Given the description of an element on the screen output the (x, y) to click on. 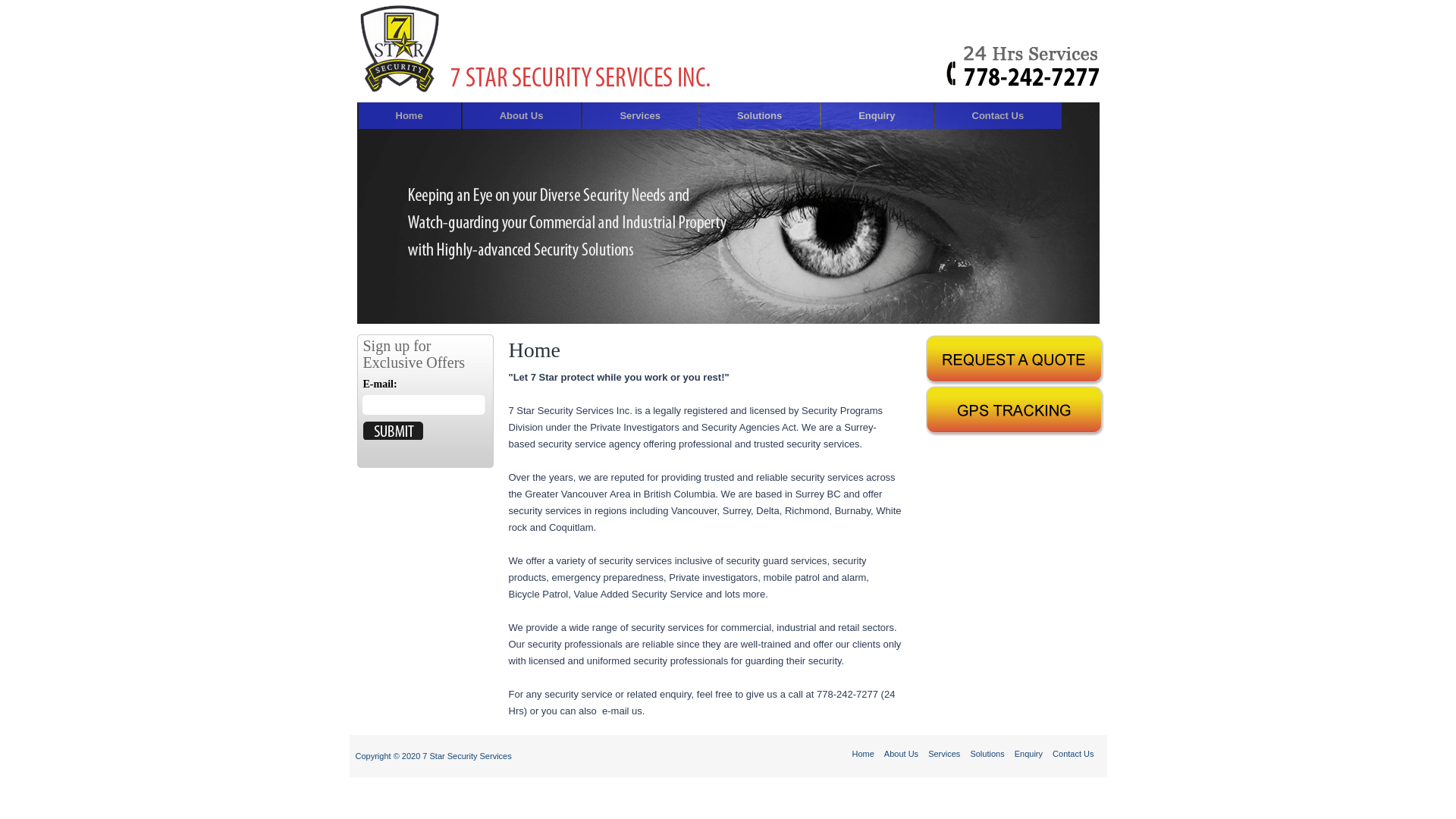
Enquiry Element type: text (876, 115)
  Element type: text (392, 430)
About Us Element type: text (521, 115)
Services Element type: text (640, 115)
Home Element type: text (863, 753)
Solutions Element type: text (988, 753)
About Us Element type: text (902, 753)
Contact Us Element type: text (1072, 753)
Solutions Element type: text (759, 115)
Enquiry Element type: text (1029, 753)
Services Element type: text (945, 753)
Home Element type: text (408, 115)
Contact Us Element type: text (998, 115)
